Given the description of an element on the screen output the (x, y) to click on. 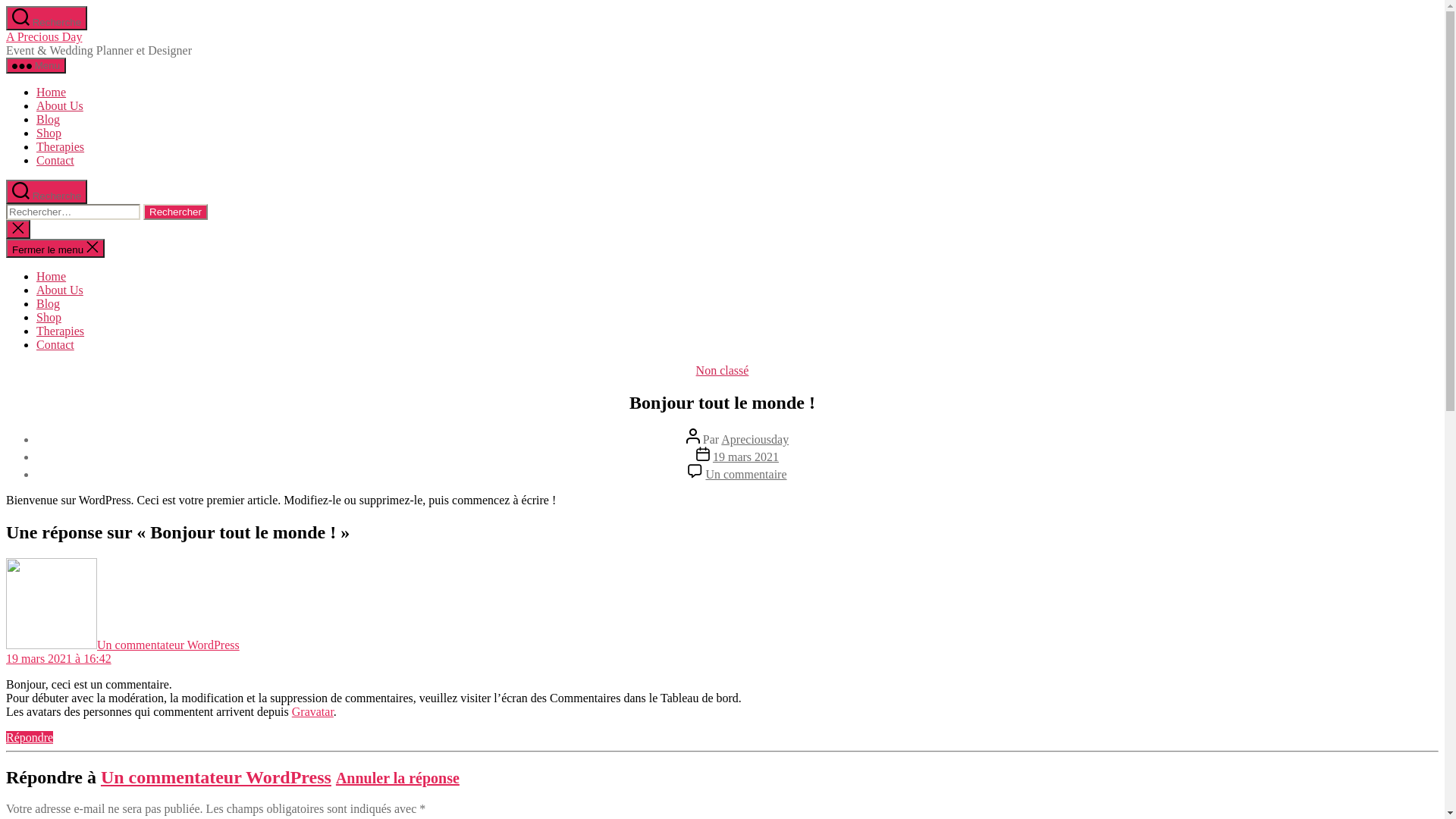
Un commentateur WordPress
dit : Element type: text (122, 644)
About Us Element type: text (59, 105)
Blog Element type: text (47, 118)
Apreciousday Element type: text (754, 439)
Recherche Element type: text (46, 191)
Fermer le menu Element type: text (55, 247)
Contact Element type: text (55, 344)
19 mars 2021 Element type: text (745, 456)
Aller au contenu Element type: text (5, 5)
Gravatar Element type: text (312, 711)
Un commentaire
sur Bonjour tout le monde ! Element type: text (745, 473)
Shop Element type: text (48, 132)
Contact Element type: text (55, 159)
Recherche Element type: text (46, 18)
Home Element type: text (50, 275)
Therapies Element type: text (60, 330)
A Precious Day Element type: text (43, 36)
About Us Element type: text (59, 289)
Home Element type: text (50, 91)
Menu Element type: text (35, 65)
Fermer la recherche Element type: text (18, 228)
Un commentateur WordPress Element type: text (215, 777)
Shop Element type: text (48, 316)
Rechercher Element type: text (175, 211)
Blog Element type: text (47, 303)
Therapies Element type: text (60, 146)
